Given the description of an element on the screen output the (x, y) to click on. 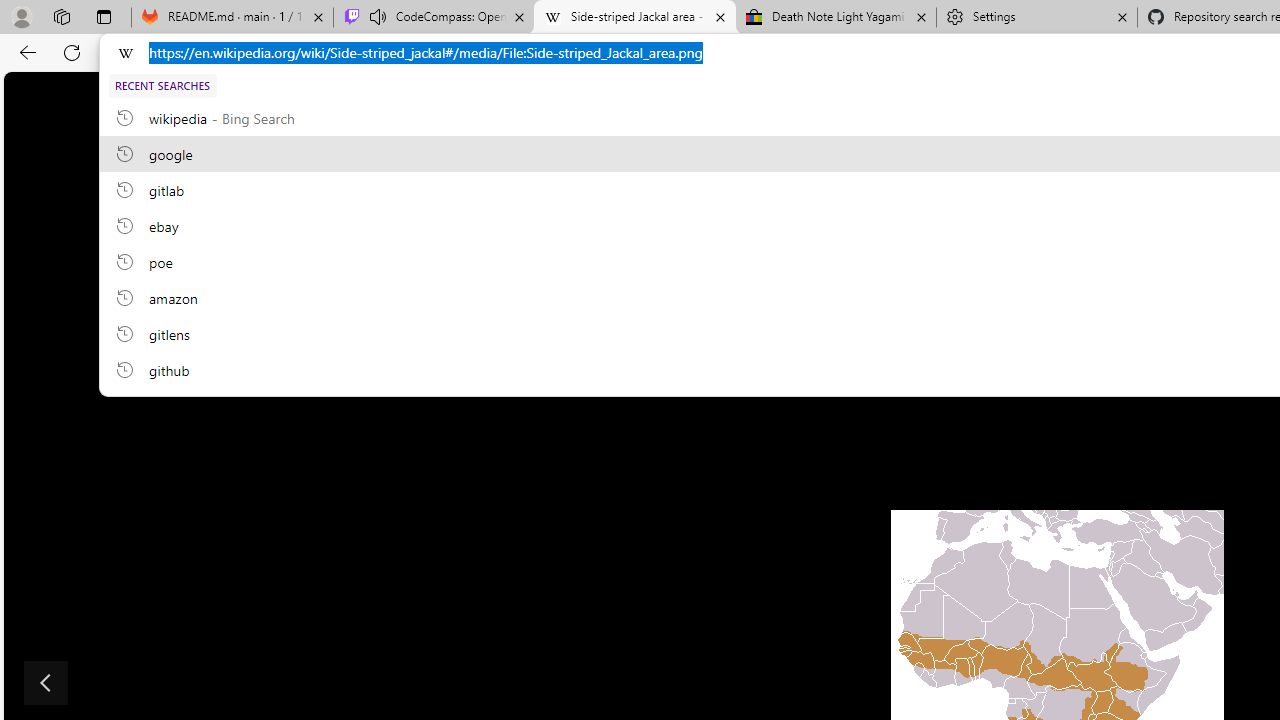
Side-striped Jackal area - Side-striped jackal - Wikipedia (634, 17)
Show previous image (45, 682)
Mute tab (377, 16)
